Given the description of an element on the screen output the (x, y) to click on. 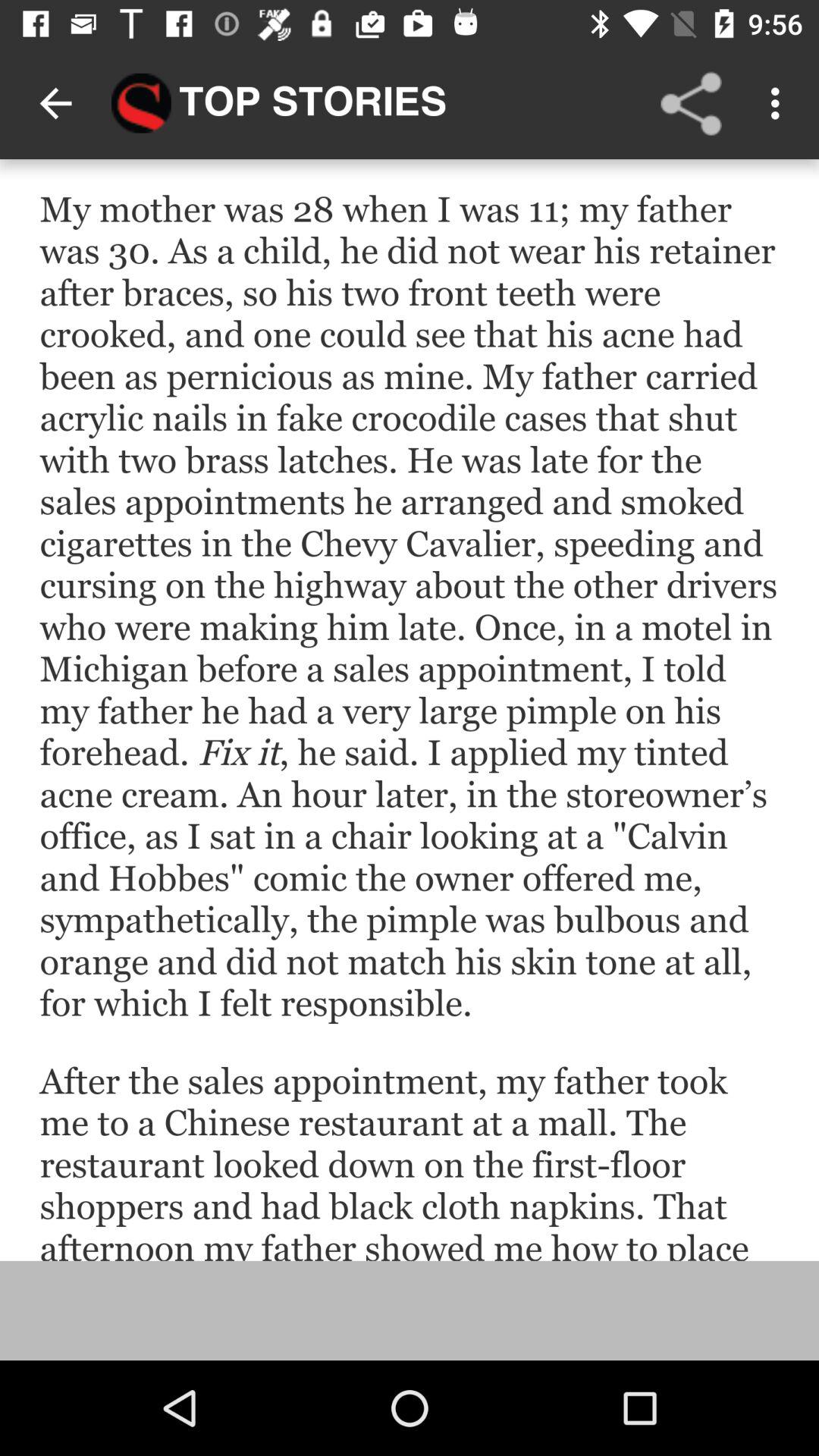
file (409, 709)
